Given the description of an element on the screen output the (x, y) to click on. 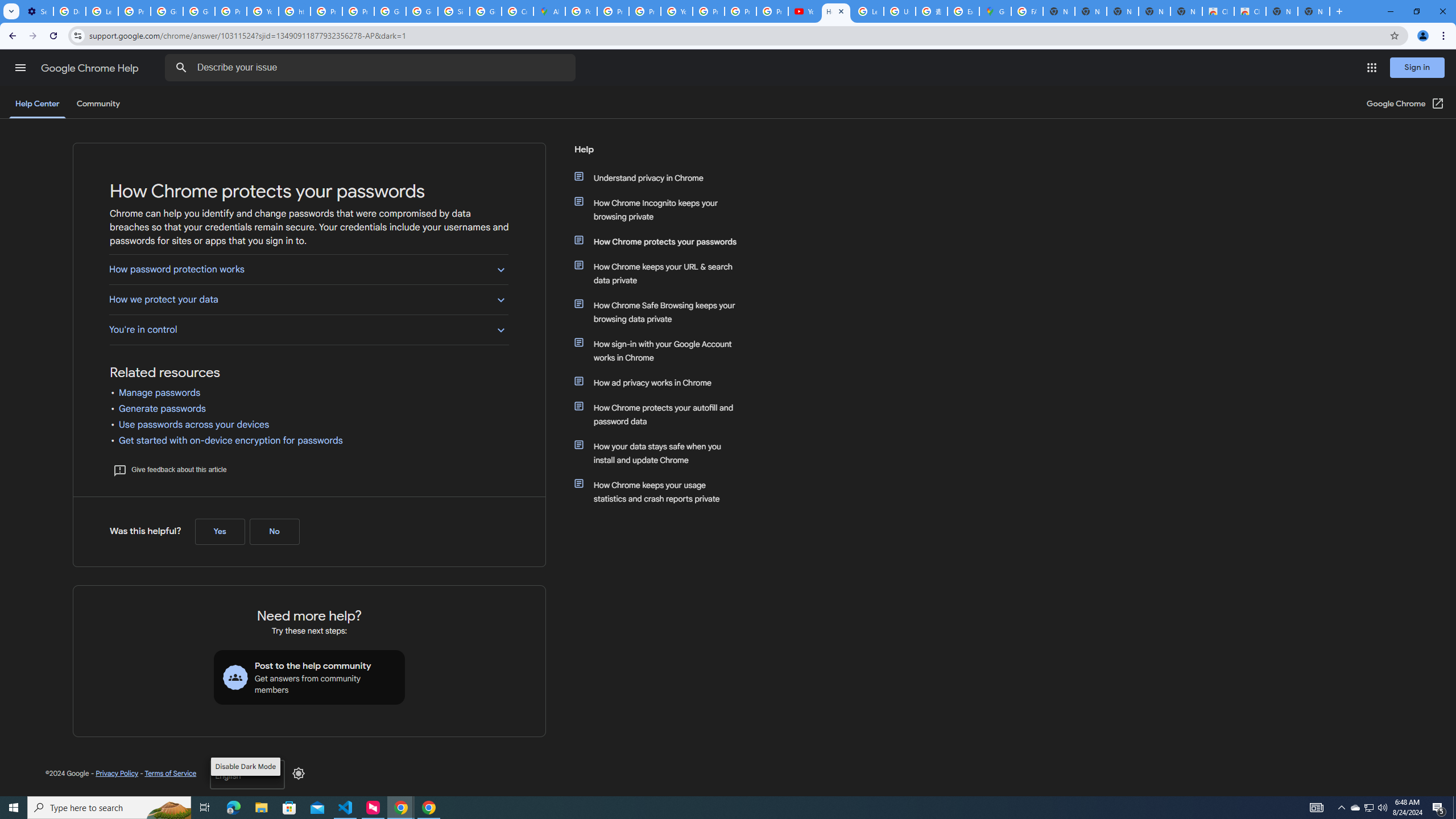
Community (97, 103)
Generate passwords (162, 408)
Google Account Help (166, 11)
Google Account Help (198, 11)
Get started with on-device encryption for passwords (231, 440)
How your data stays safe when you install and update Chrome (661, 453)
Give feedback about this article (169, 469)
How sign-in with your Google Account works in Chrome (661, 350)
https://scholar.google.com/ (294, 11)
